Given the description of an element on the screen output the (x, y) to click on. 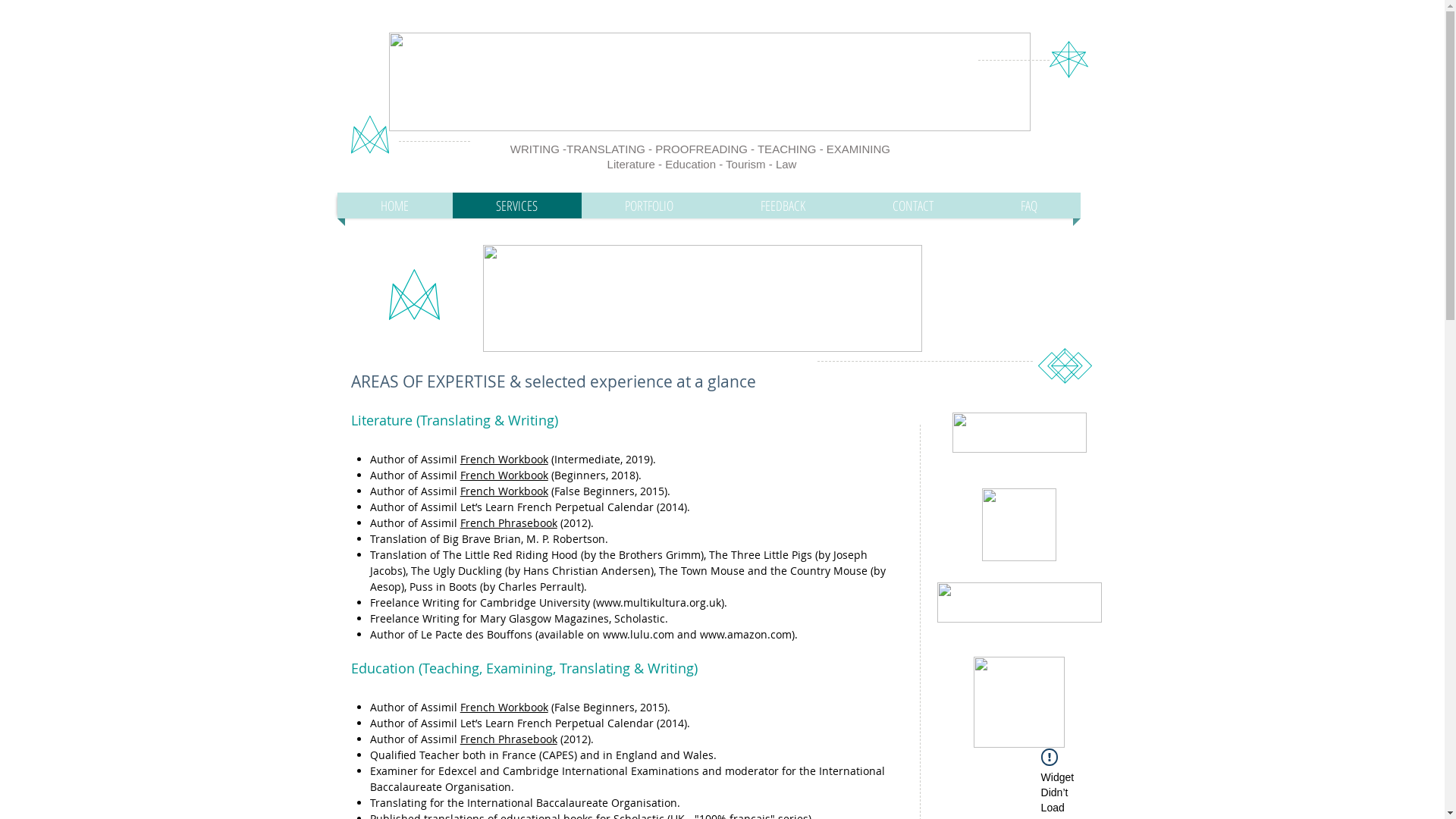
French Workbook Element type: text (504, 706)
French Workbook Element type: text (504, 458)
SERVICES Element type: text (515, 205)
HOME Element type: text (393, 205)
French Workbook Element type: text (504, 490)
FEEDBACK Element type: text (783, 205)
French Workbook Element type: text (504, 474)
CONTACT Element type: text (913, 205)
FAQ Element type: text (1027, 205)
French Phrasebook Element type: text (508, 522)
www.amazon.com Element type: text (745, 633)
PORTFOLIO Element type: text (648, 205)
www.multikultura.org.uk Element type: text (658, 601)
French Phrasebook Element type: text (508, 738)
www.lulu.com Element type: text (638, 633)
